Given the description of an element on the screen output the (x, y) to click on. 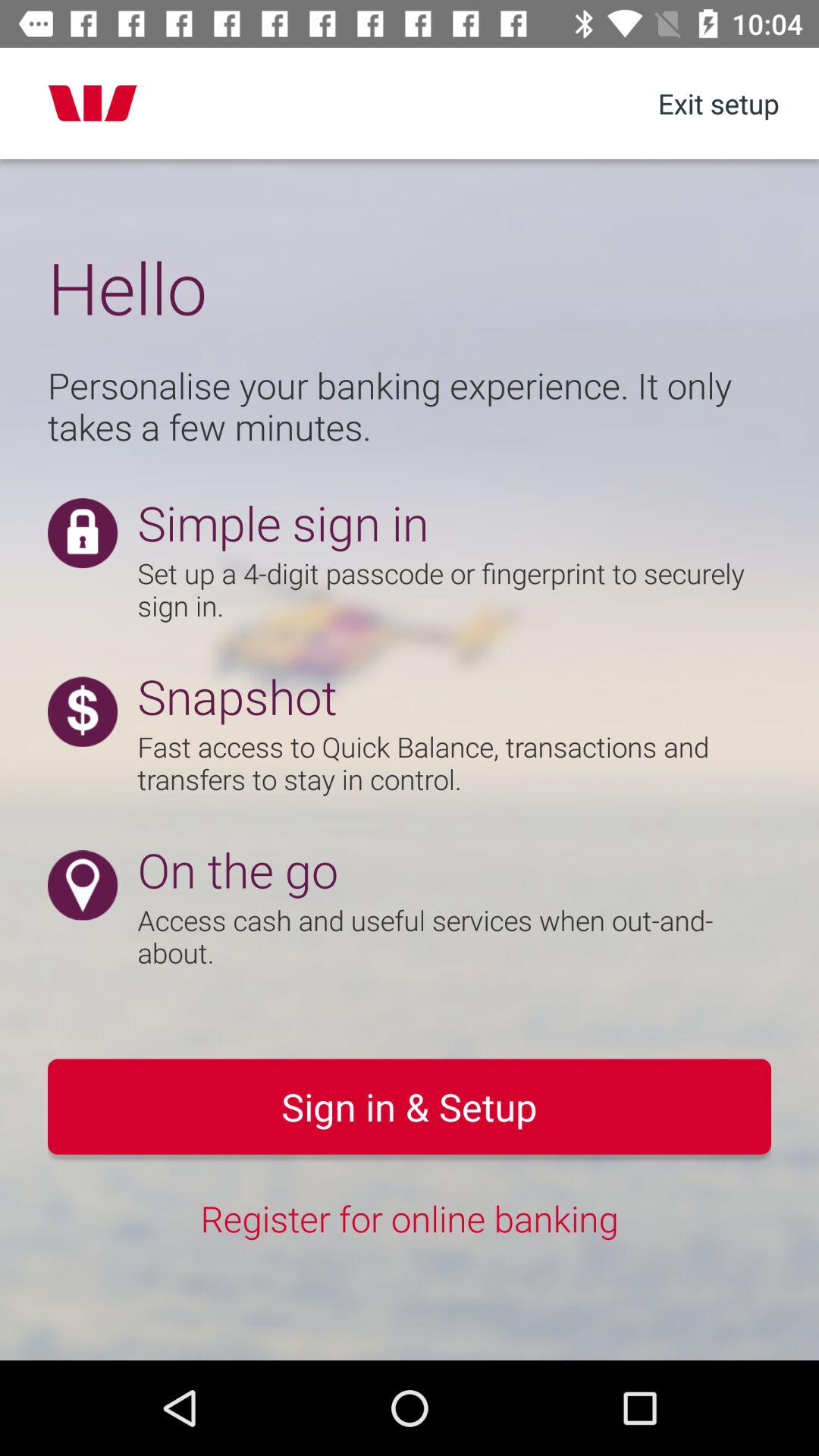
open item at the top right corner (718, 103)
